Given the description of an element on the screen output the (x, y) to click on. 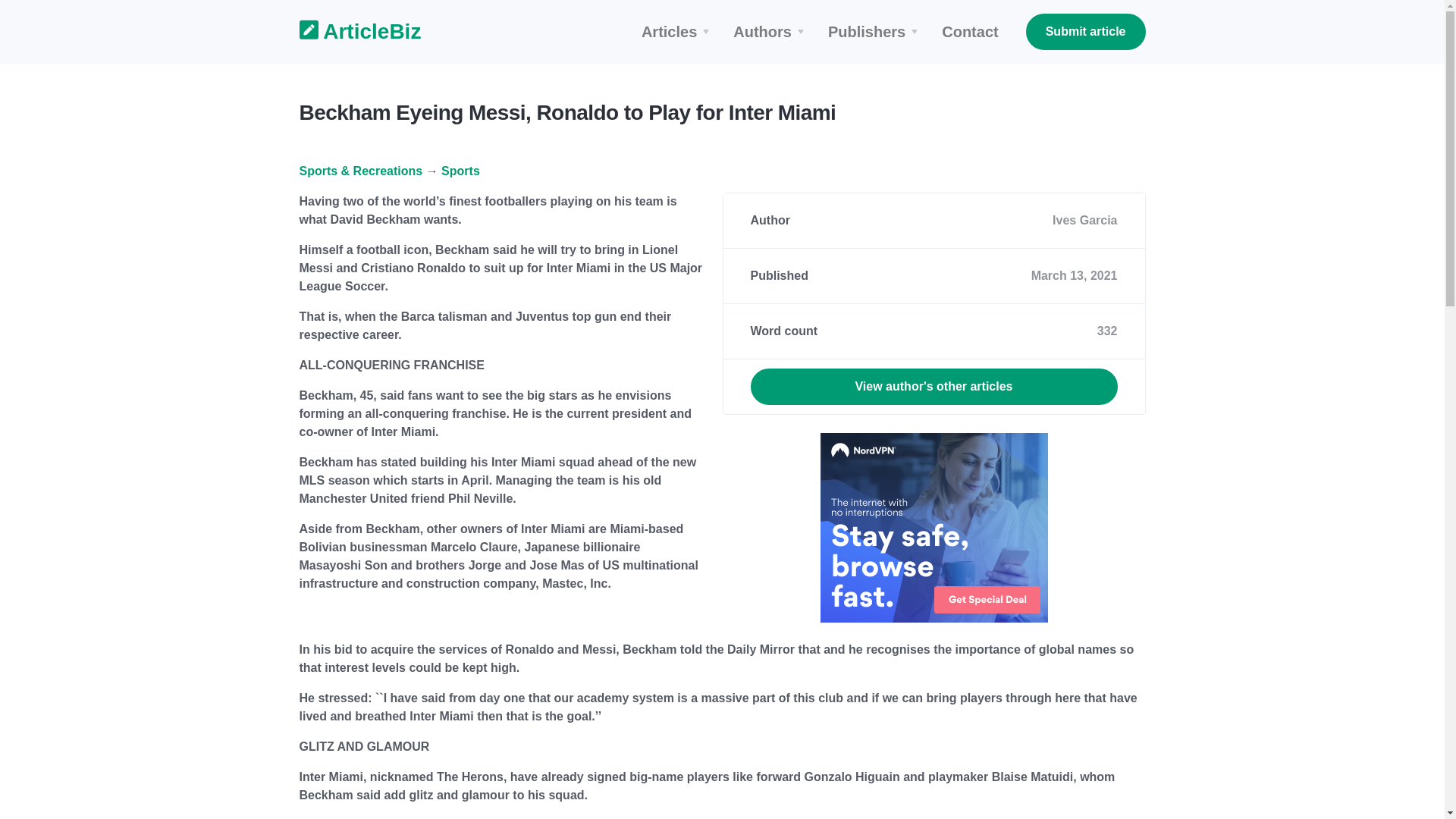
Contact (970, 31)
Authors (770, 31)
ArticleBiz (349, 31)
View author's other articles (934, 386)
Publishers (875, 31)
Articles (677, 31)
Sports (460, 170)
Submit article (1085, 31)
